Given the description of an element on the screen output the (x, y) to click on. 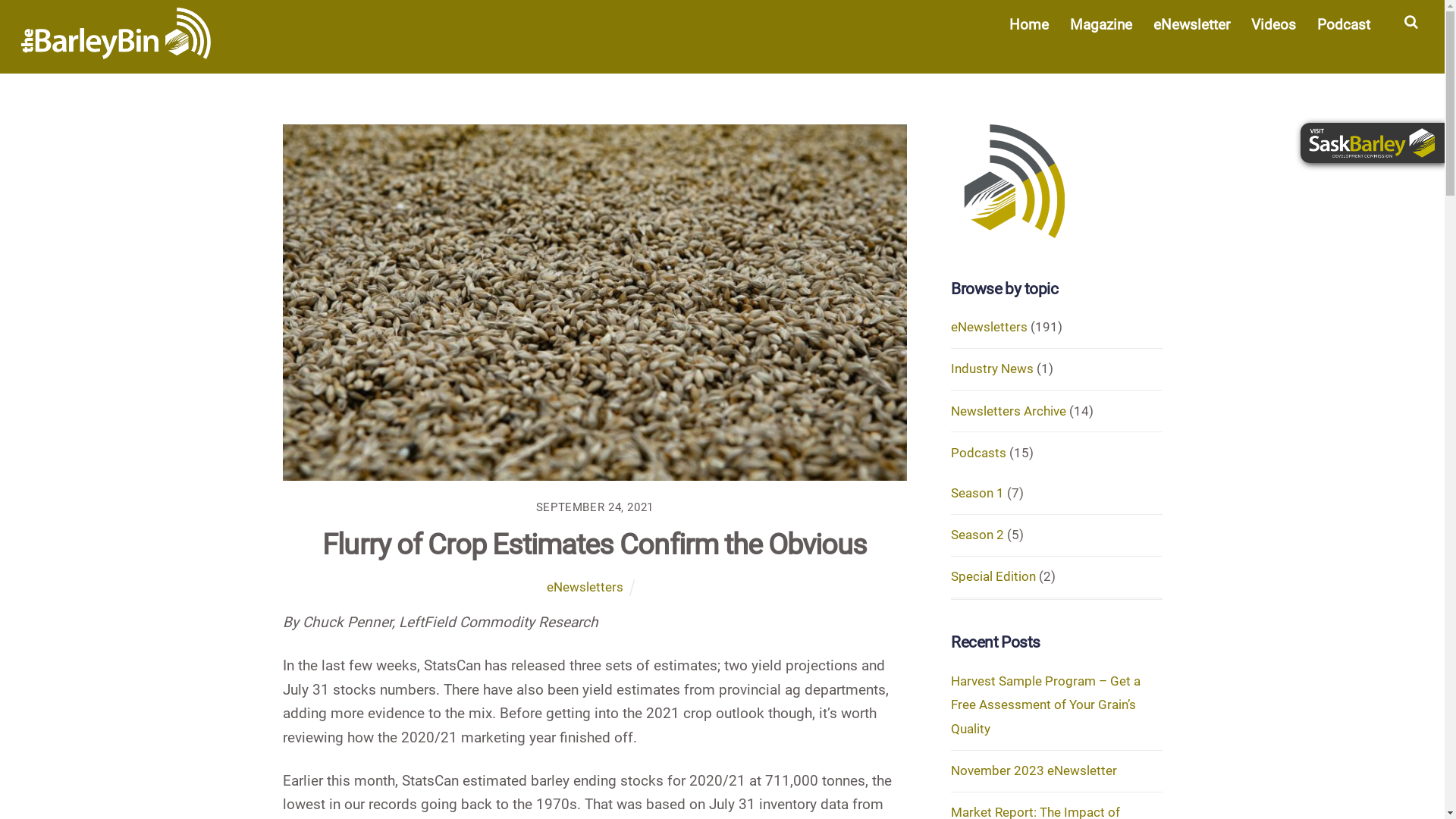
Home Element type: text (1028, 24)
eNewsletter Element type: text (1191, 24)
Industry News Element type: text (991, 368)
Podcasts Element type: text (978, 452)
Season 1 Element type: text (977, 492)
Magazine Element type: text (1100, 24)
eNewsletters Element type: text (988, 326)
Search Element type: text (1411, 27)
Newsletters Archive Element type: text (1008, 410)
Videos Element type: text (1273, 24)
eNewsletters Element type: text (584, 586)
November 2023 eNewsletter Element type: text (1033, 770)
Podcast Element type: text (1343, 24)
Season 2 Element type: text (977, 534)
The Barley Bin Element type: hover (115, 49)
Special Edition Element type: text (992, 575)
The Barley Bin Element type: hover (115, 33)
